Given the description of an element on the screen output the (x, y) to click on. 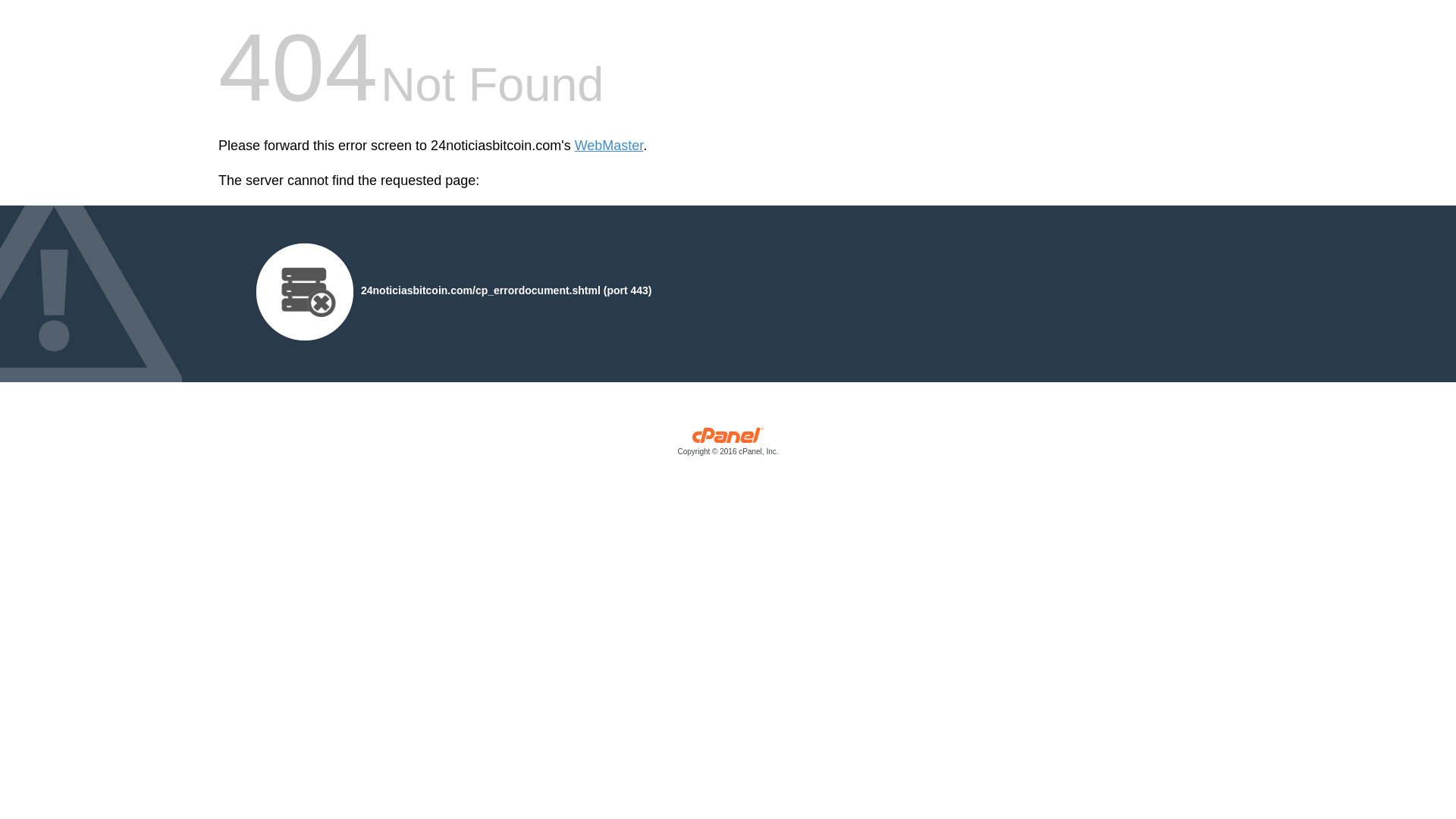
WebMaster Element type: text (608, 145)
